Given the description of an element on the screen output the (x, y) to click on. 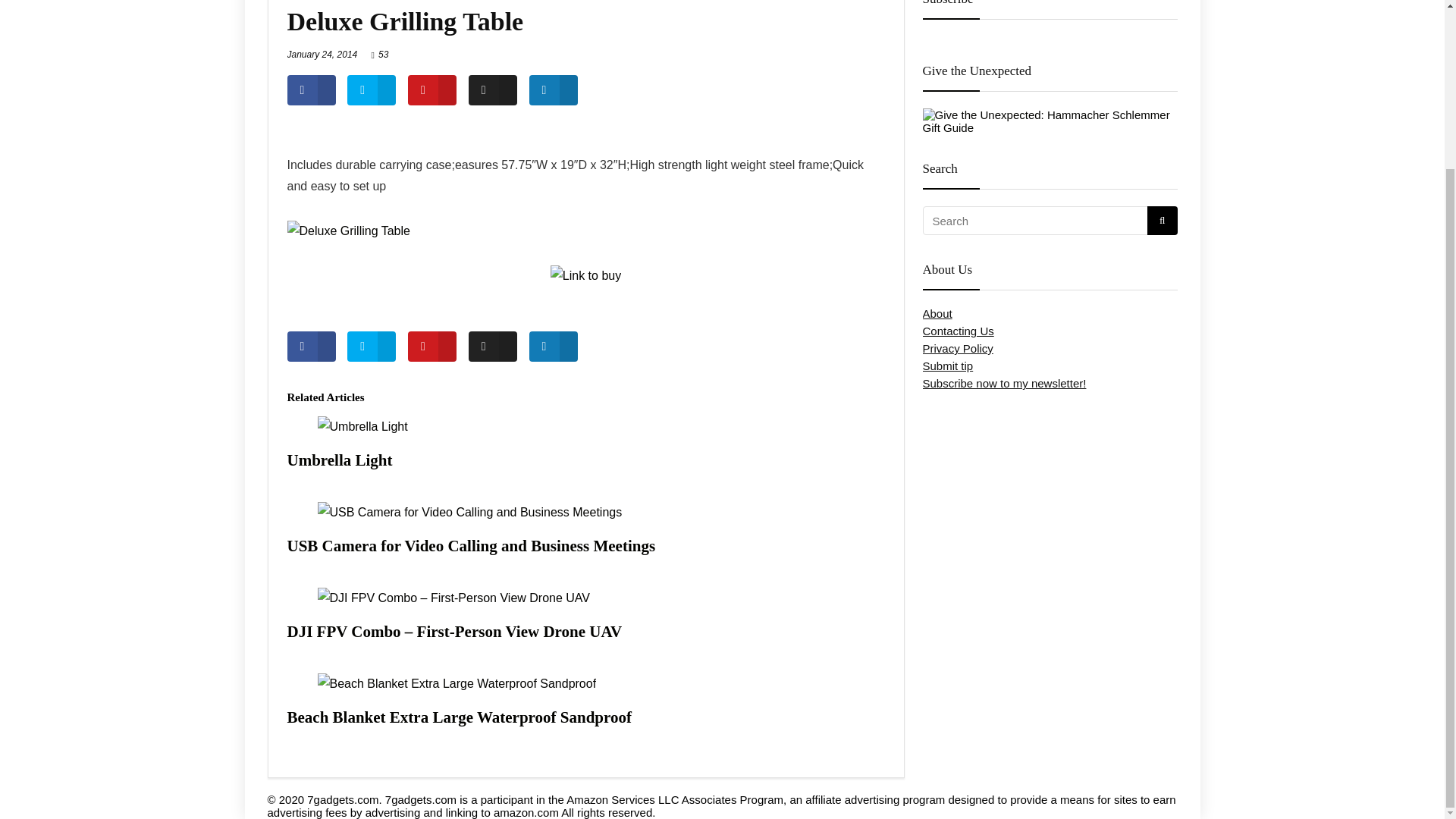
Umbrella Light (338, 460)
Buy now! (585, 275)
About (936, 313)
Beach Blanket Extra Large Waterproof Sandproof (458, 717)
Contacting Us (956, 330)
USB Camera for Video Calling and Business Meetings (470, 546)
Privacy Policy (956, 348)
